Given the description of an element on the screen output the (x, y) to click on. 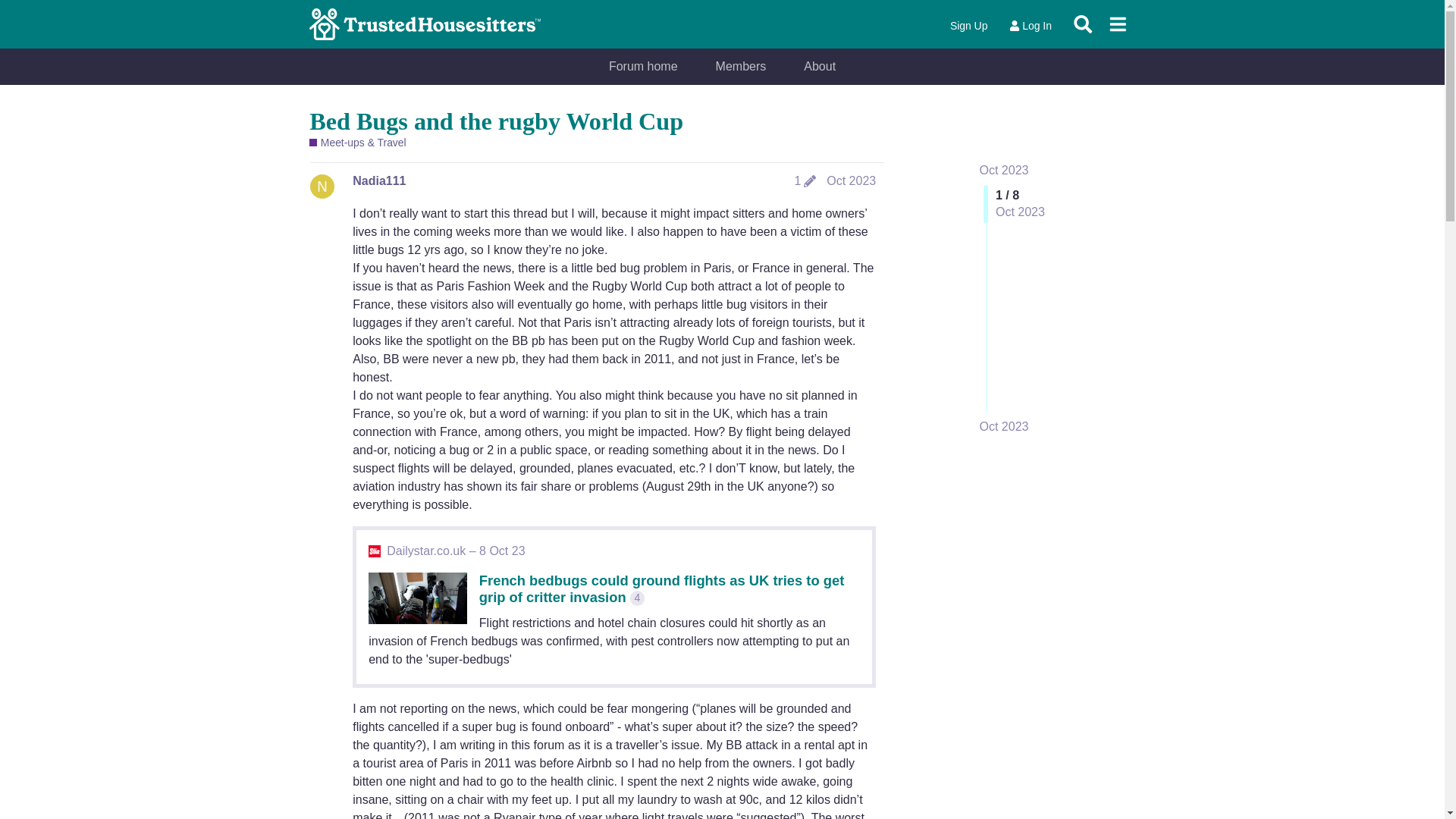
03:38PM - 08 October 2023 (455, 551)
Post date (851, 180)
Jump to the last post (1004, 426)
4 clicks (637, 598)
About (819, 66)
Members (741, 66)
post last edited on 11 Oct 2023 04:39 (805, 181)
Jump to the first post (1004, 169)
Sign Up (968, 25)
Search (1082, 23)
Oct 2023 (1004, 426)
Oct 2023 (851, 180)
1 (805, 181)
